Given the description of an element on the screen output the (x, y) to click on. 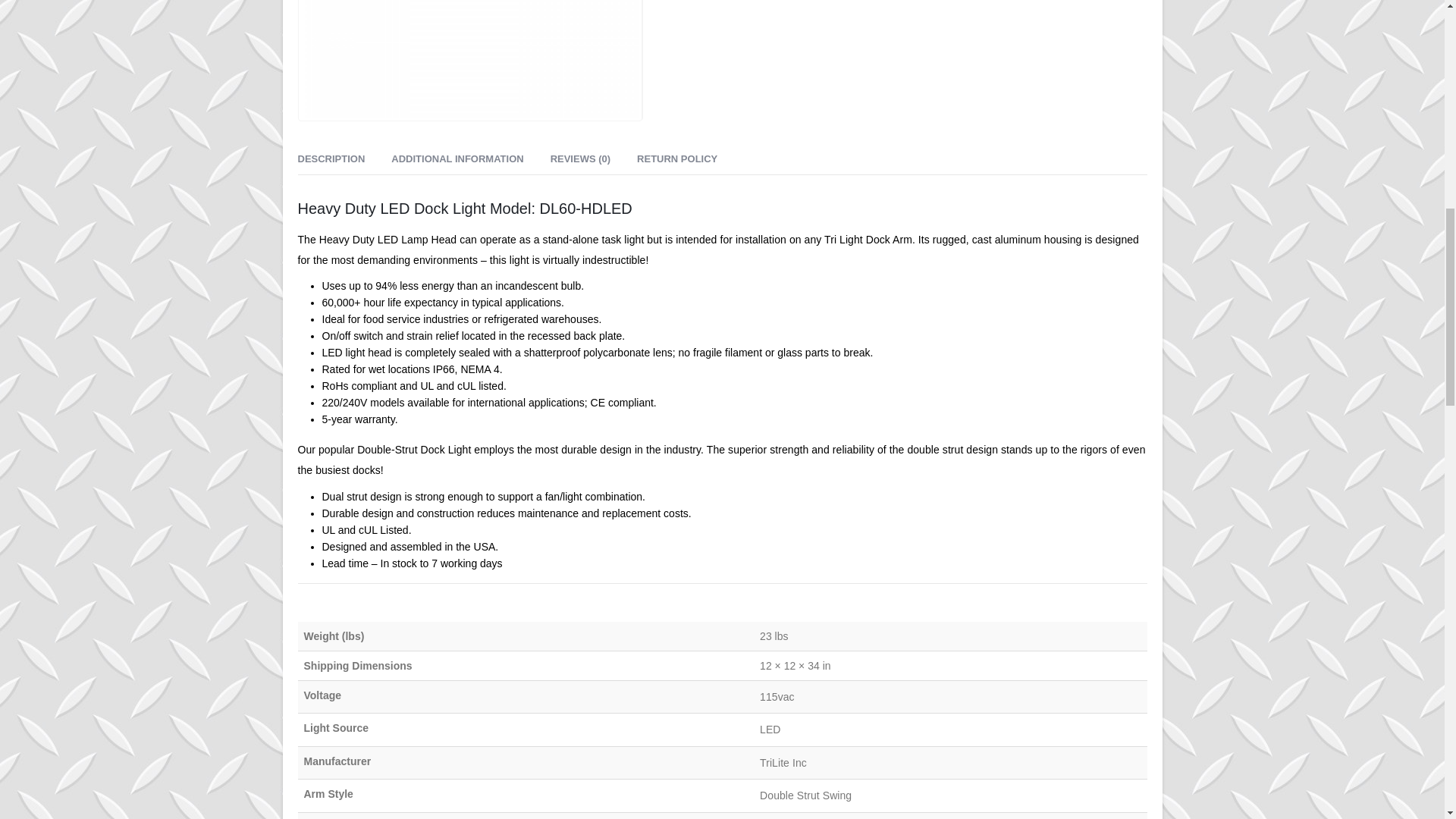
HD LED Dock Light with Double Strut Swing Arm (469, 58)
